Given the description of an element on the screen output the (x, y) to click on. 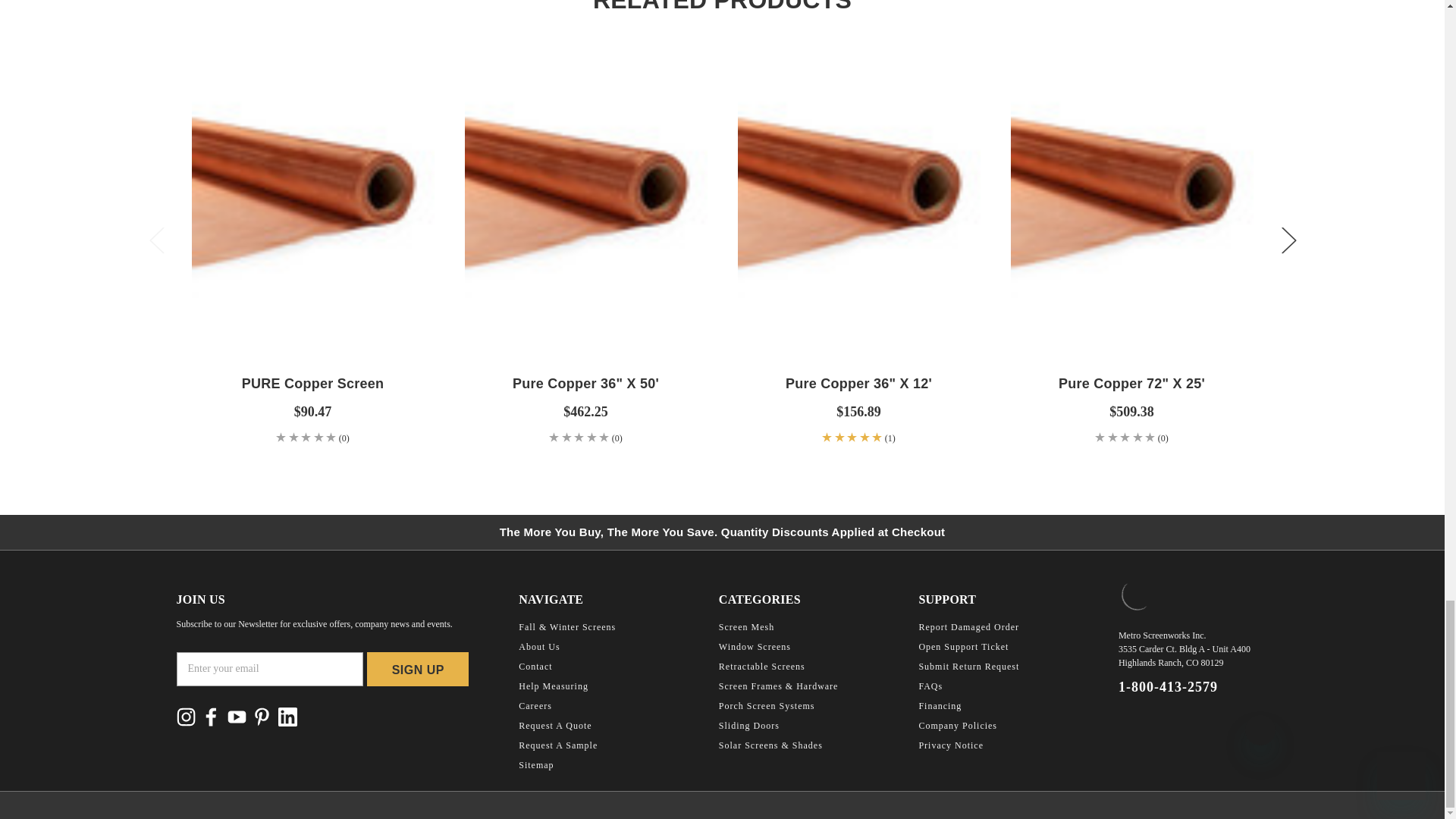
Sign Up (417, 668)
